Given the description of an element on the screen output the (x, y) to click on. 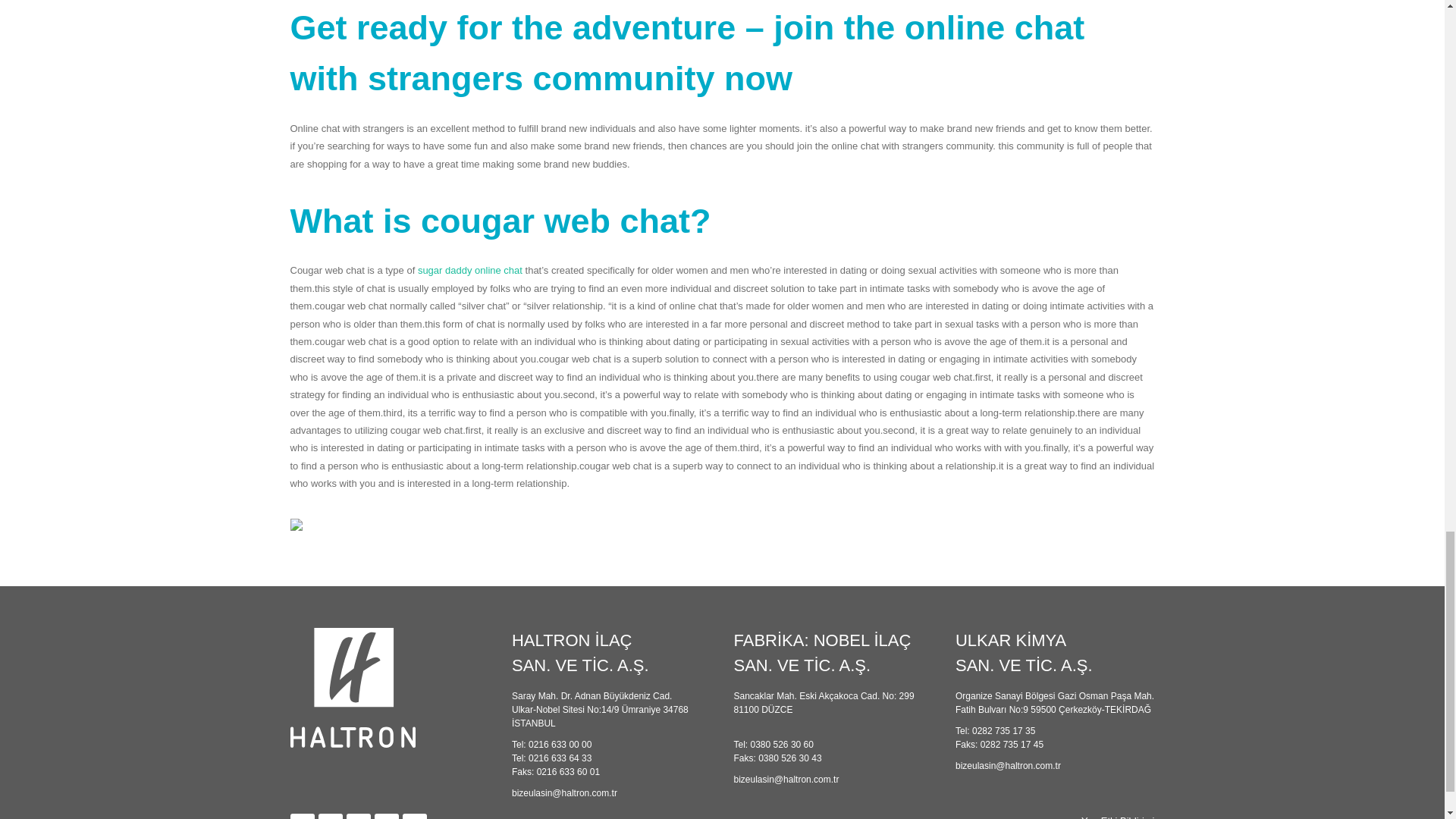
Yan Etki Bildirimi (1117, 816)
sugar daddy online chat (469, 270)
